Given the description of an element on the screen output the (x, y) to click on. 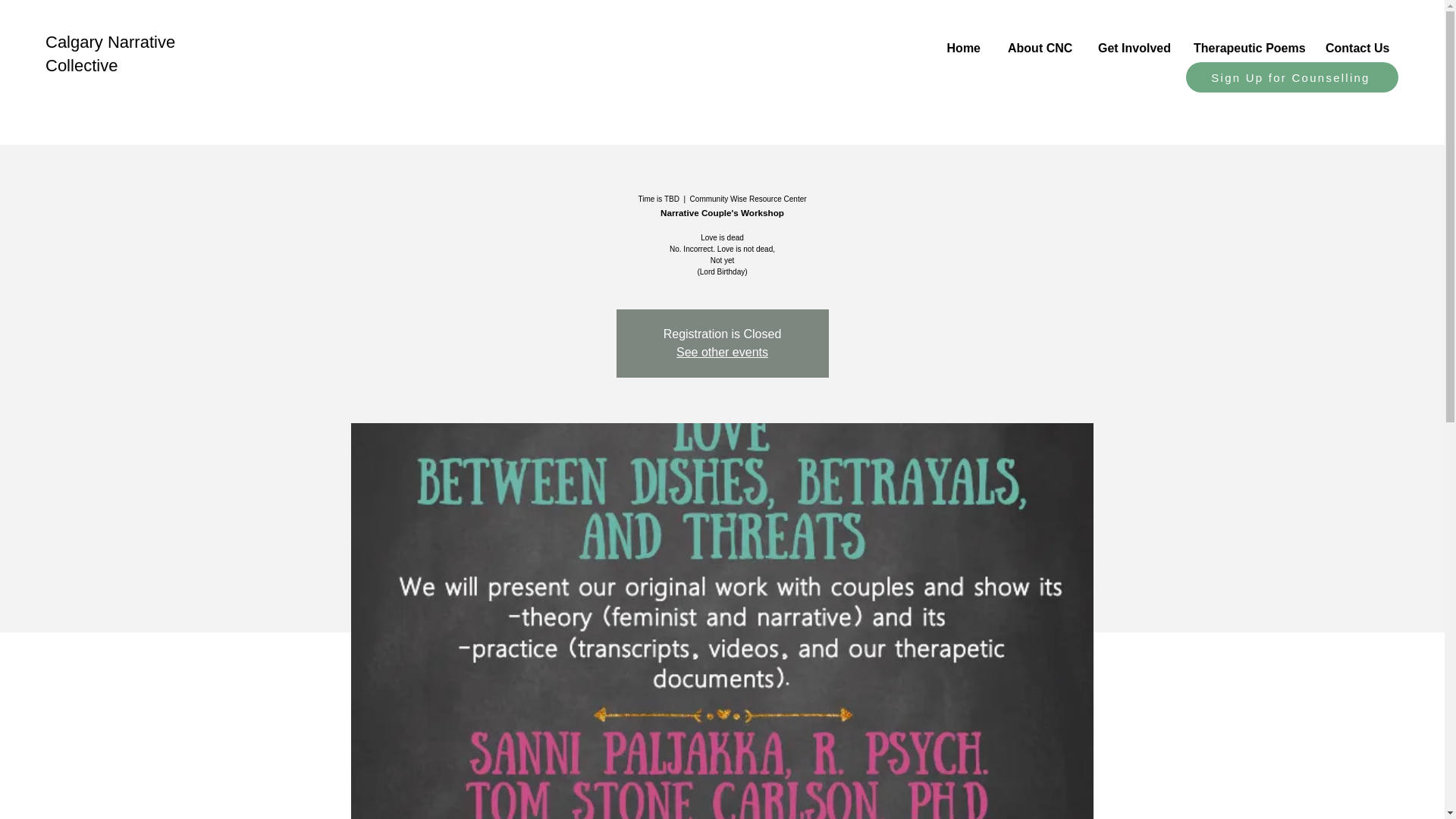
Sign Up for Counselling (1291, 77)
Home (963, 41)
Therapeutic Poems (1245, 41)
See other events (722, 351)
Calgary Narrative Collective (109, 53)
Contact Us (1354, 41)
